Given the description of an element on the screen output the (x, y) to click on. 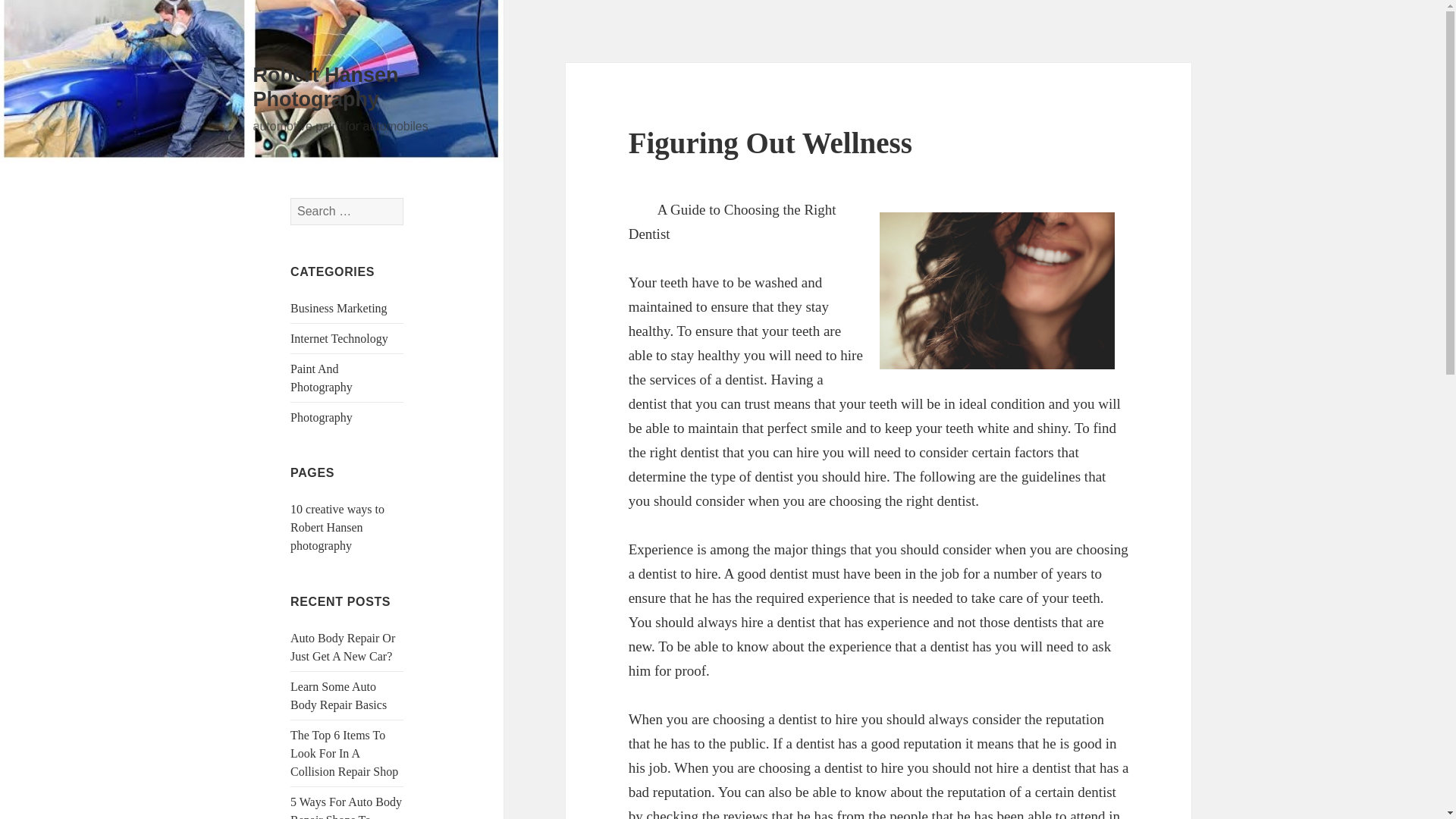
The Top 6 Items To Look For In A Collision Repair Shop (343, 753)
Robert Hansen Photography (325, 86)
Internet Technology (338, 338)
Learn Some Auto Body Repair Basics (338, 695)
Auto Body Repair Or Just Get A New Car? (341, 646)
10 creative ways to Robert Hansen photography (336, 527)
Business Marketing (338, 308)
Photography (320, 417)
Paint And Photography (320, 377)
